Given the description of an element on the screen output the (x, y) to click on. 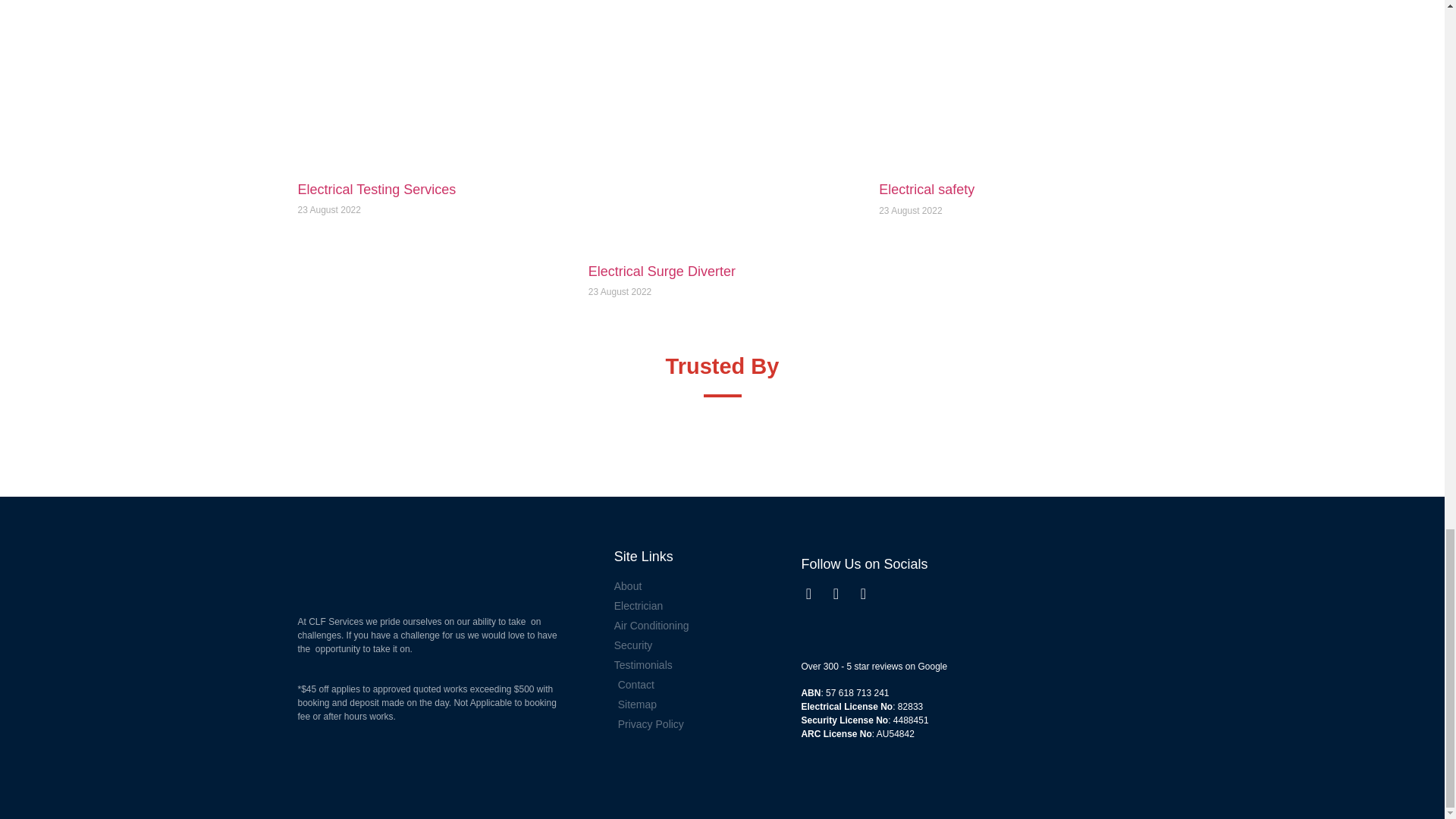
Electrician (703, 606)
Electrical safety (926, 189)
Electrical Testing Services (376, 189)
Electrical Surge Diverter (661, 271)
Testimonials (703, 665)
Contact (703, 684)
Security (703, 645)
Privacy Policy (703, 724)
Air Conditioning (703, 625)
Sitemap (703, 704)
